Given the description of an element on the screen output the (x, y) to click on. 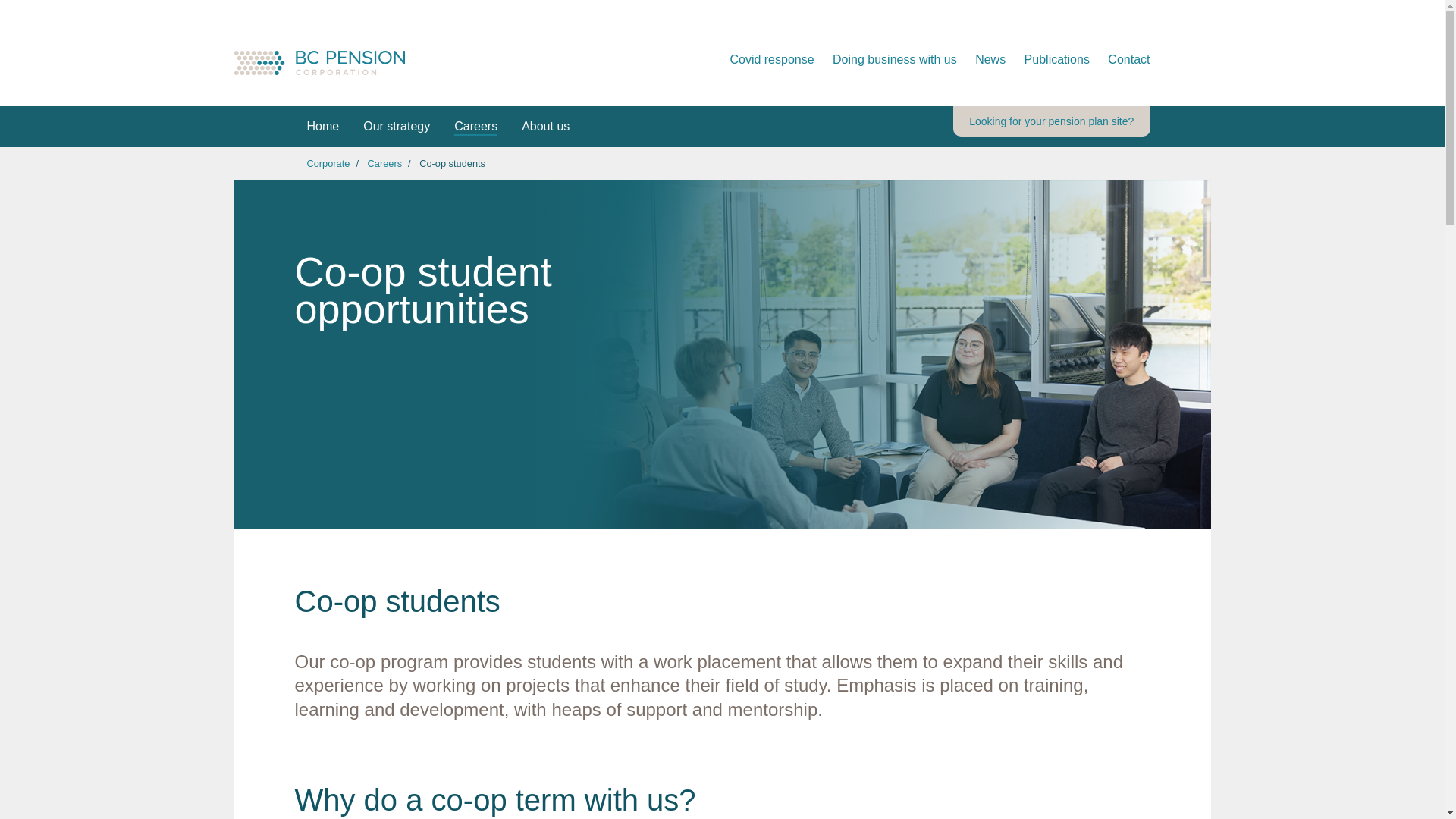
Go to Corporate (363, 60)
Covid response (763, 59)
Corporate (327, 163)
Doing business with us (886, 59)
Contact (1121, 59)
About us (544, 126)
Home (322, 126)
Careers (475, 126)
Careers (385, 163)
News (982, 59)
Our strategy (396, 126)
Publications (1049, 59)
Looking for your pension plan site? (1051, 121)
